Given the description of an element on the screen output the (x, y) to click on. 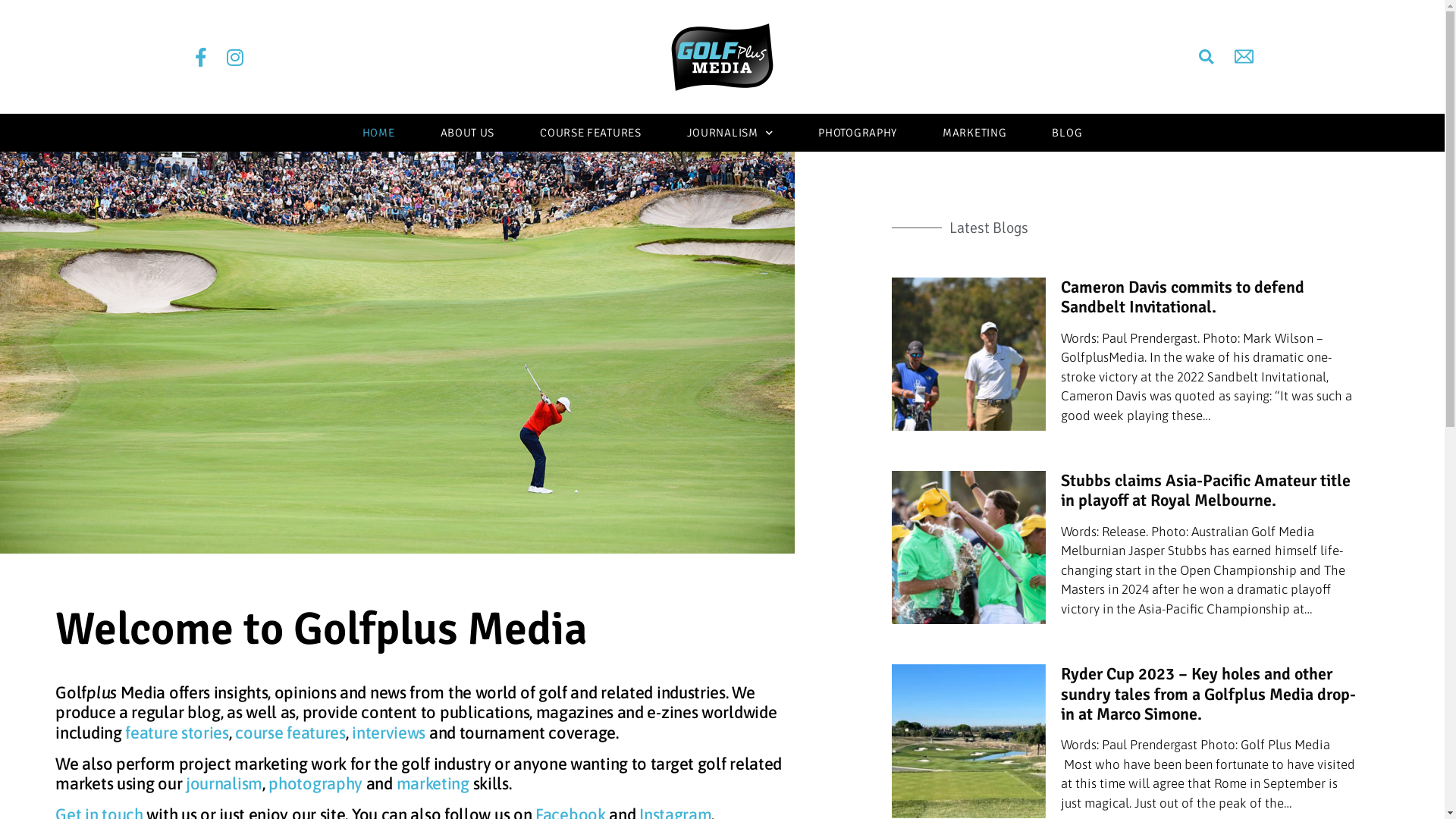
ABOUT US Element type: text (467, 132)
interviews Element type: text (388, 732)
journalism Element type: text (223, 783)
course features Element type: text (290, 732)
marketing Element type: text (432, 783)
photography Element type: text (315, 783)
MARKETING Element type: text (974, 132)
PHOTOGRAPHY Element type: text (857, 132)
feature stories Element type: text (177, 732)
JOURNALISM Element type: text (730, 132)
Cameron Davis commits to defend Sandbelt Invitational. Element type: text (1182, 296)
BLOG Element type: text (1066, 132)
HOME Element type: text (378, 132)
cropped-golfplus-logo-1.png Element type: hover (722, 56)
COURSE FEATURES Element type: text (590, 132)
